Given the description of an element on the screen output the (x, y) to click on. 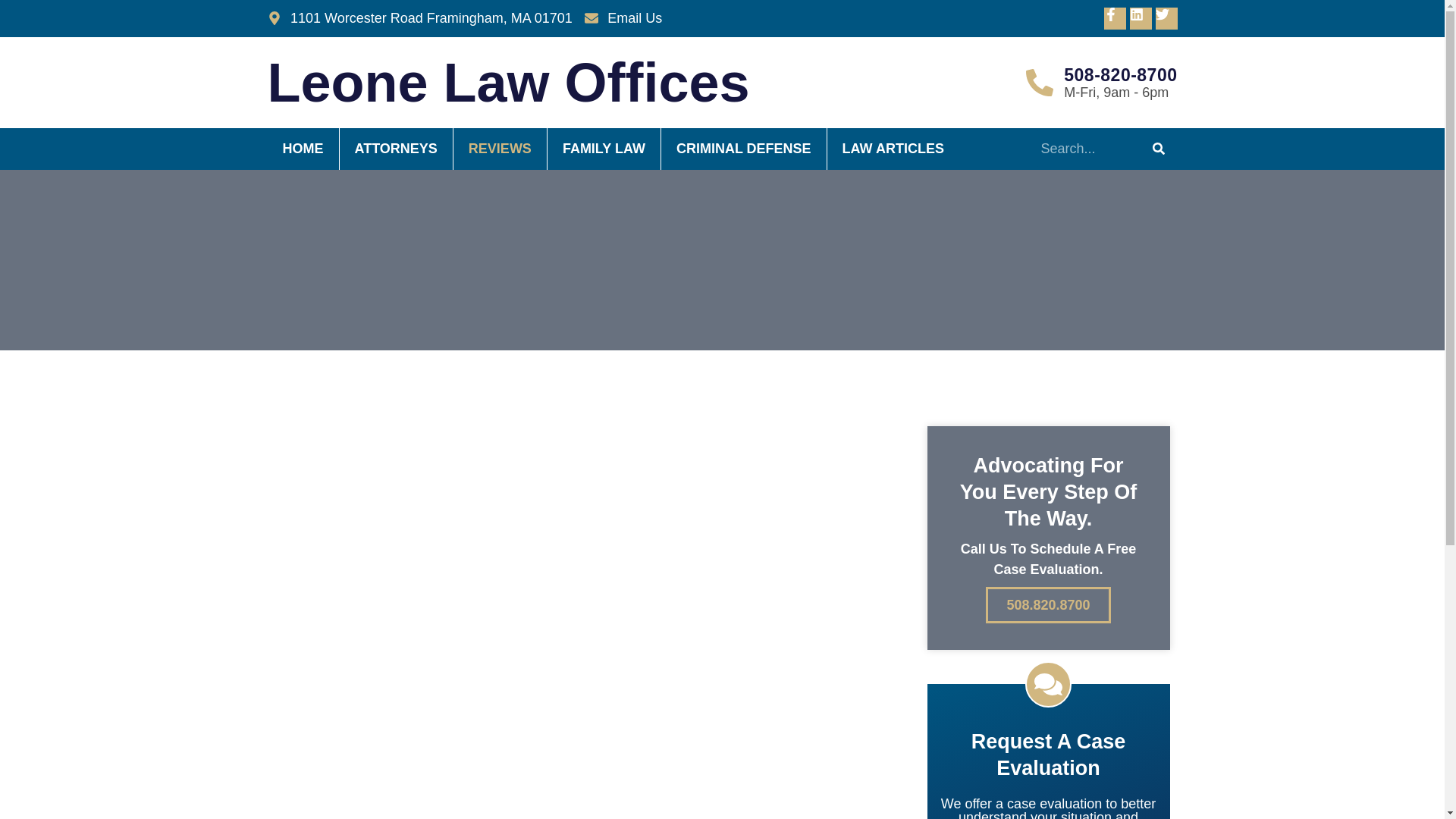
FAMILY LAW (604, 148)
508-820-8700 (1120, 75)
Email Us (623, 18)
Leone Law Offices (507, 82)
ATTORNEYS (395, 148)
LAW ARTICLES (893, 148)
1101 Worcester Road Framingham, MA 01701 (419, 18)
REVIEWS (499, 148)
HOME (301, 148)
CRIMINAL DEFENSE (744, 148)
